Given the description of an element on the screen output the (x, y) to click on. 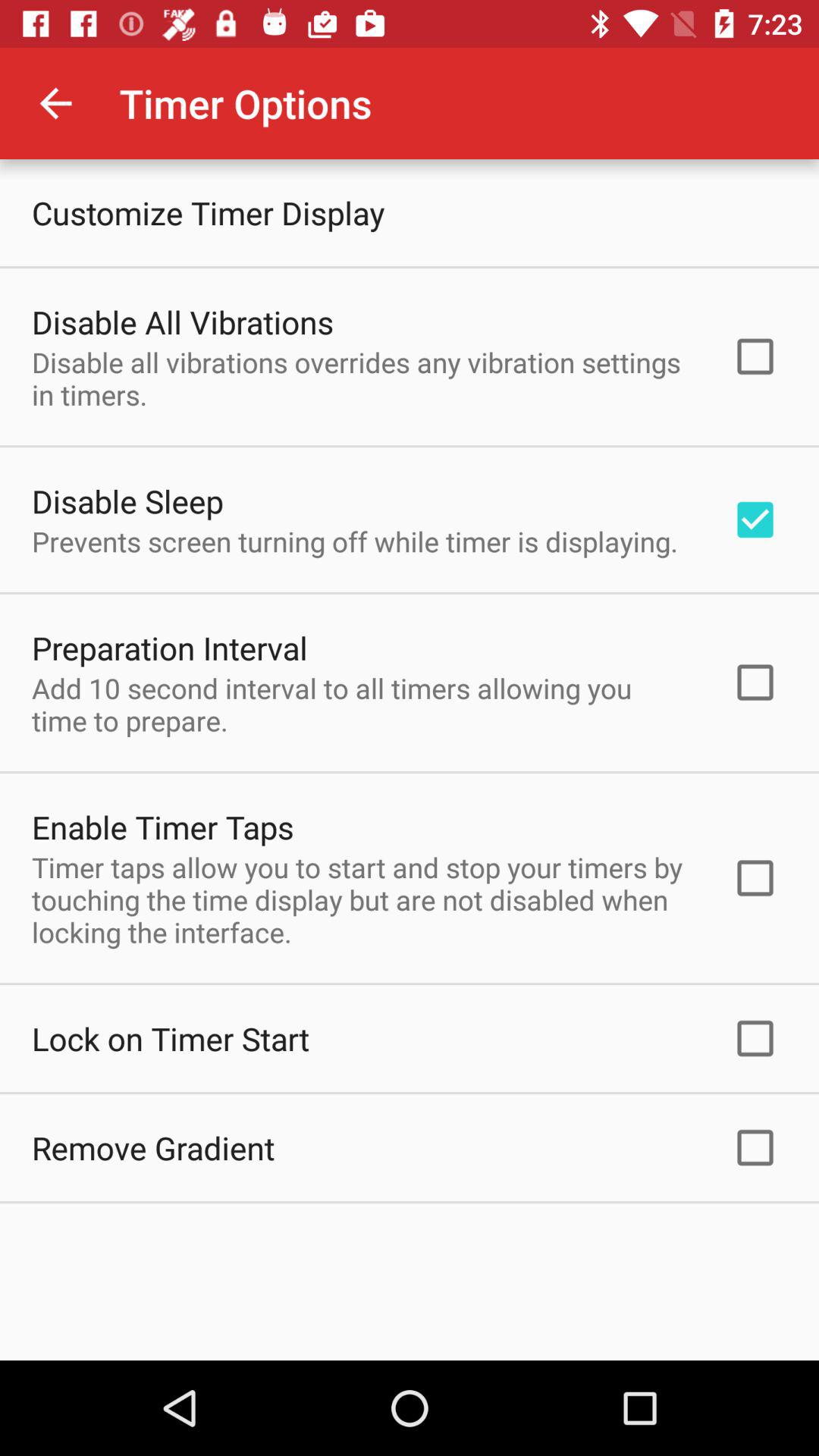
turn on the icon above the add 10 second (169, 647)
